Given the description of an element on the screen output the (x, y) to click on. 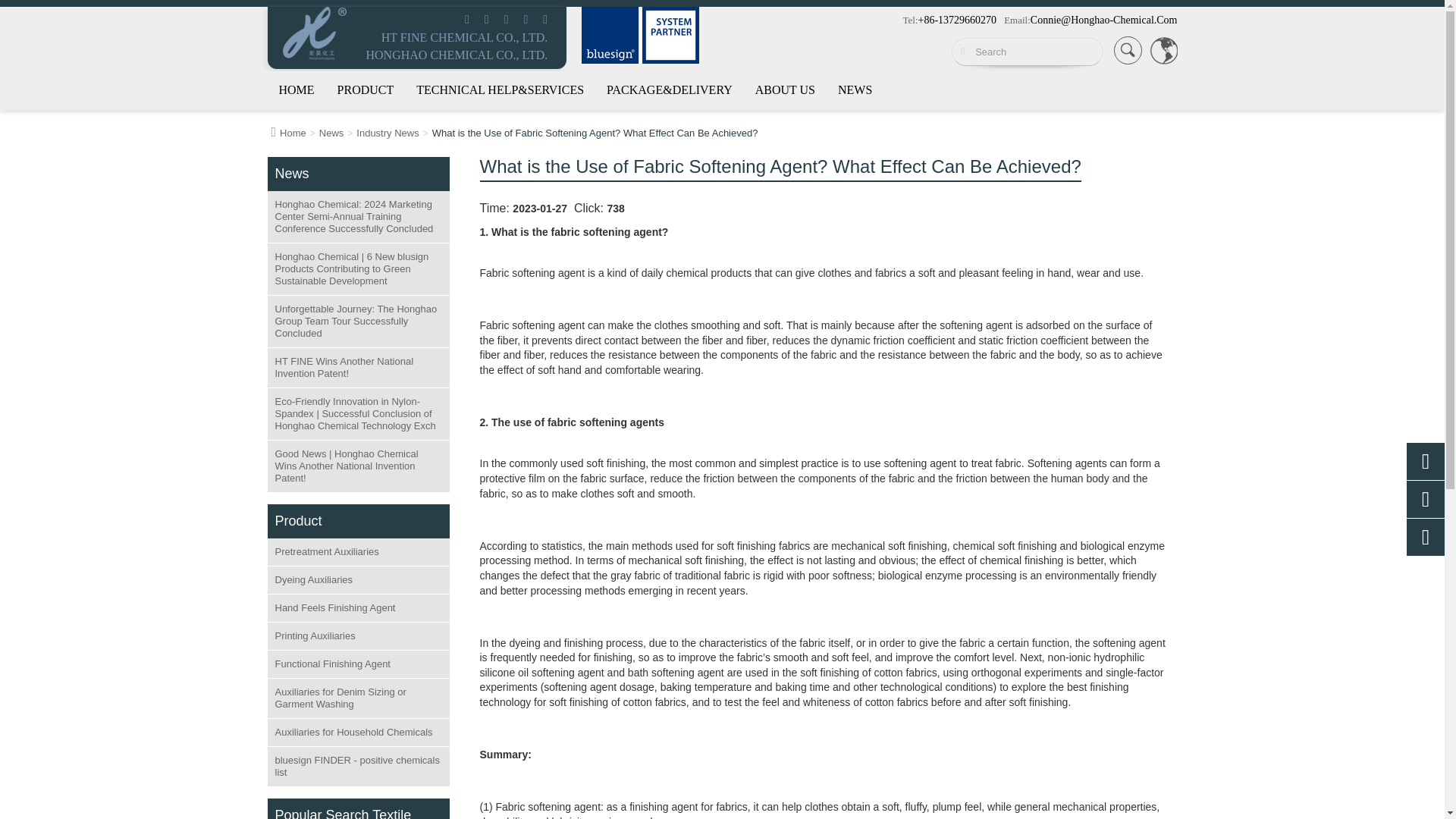
HOME (296, 90)
PRODUCT (365, 90)
ABOUT US (784, 90)
